Given the description of an element on the screen output the (x, y) to click on. 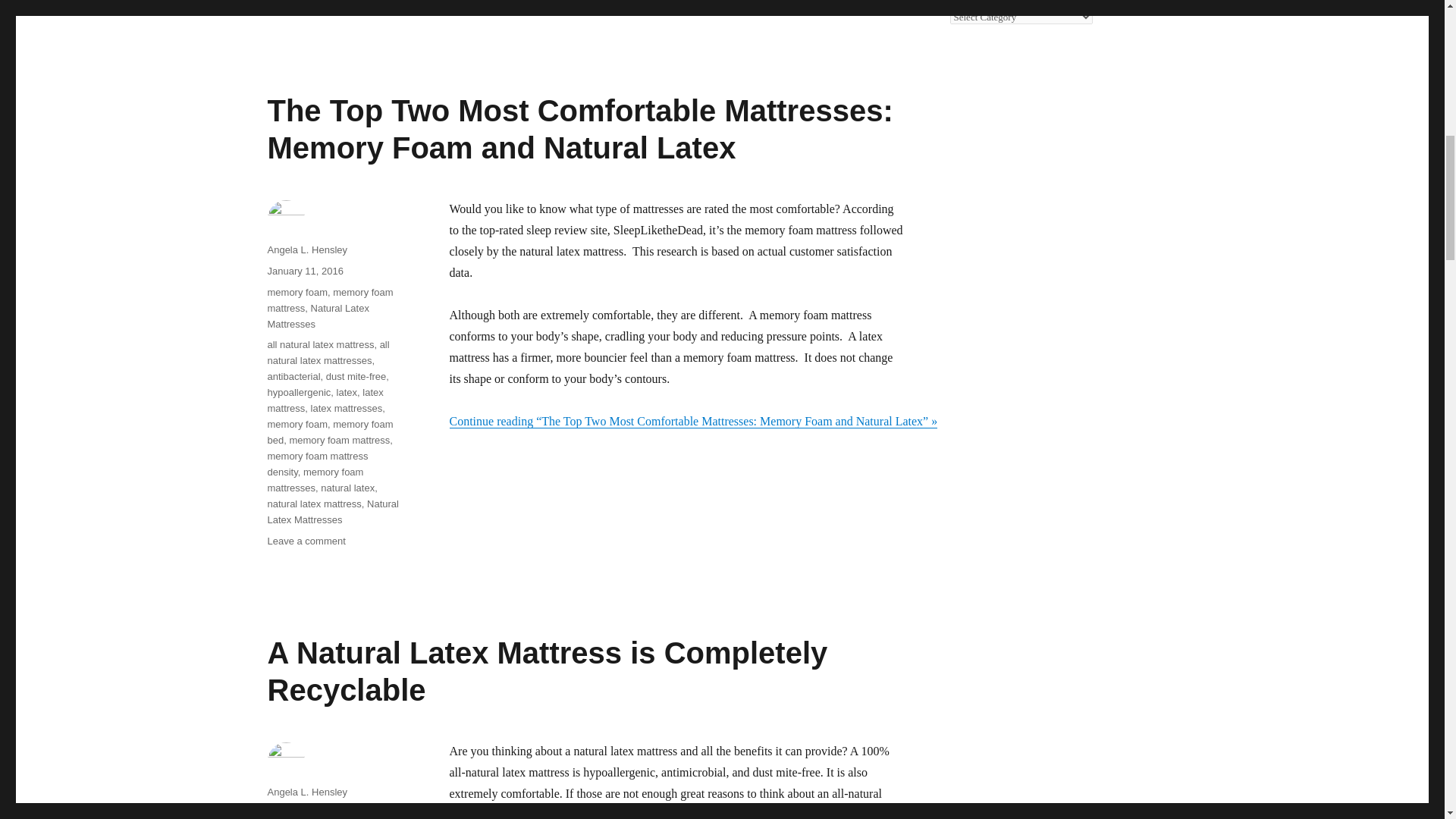
Natural Latex Mattresses (317, 316)
all natural latex mattress (320, 344)
memory foam mattress (329, 299)
memory foam (296, 292)
all natural latex mattresses (327, 352)
Angela L. Hensley (306, 249)
January 11, 2016 (304, 270)
